Given the description of an element on the screen output the (x, y) to click on. 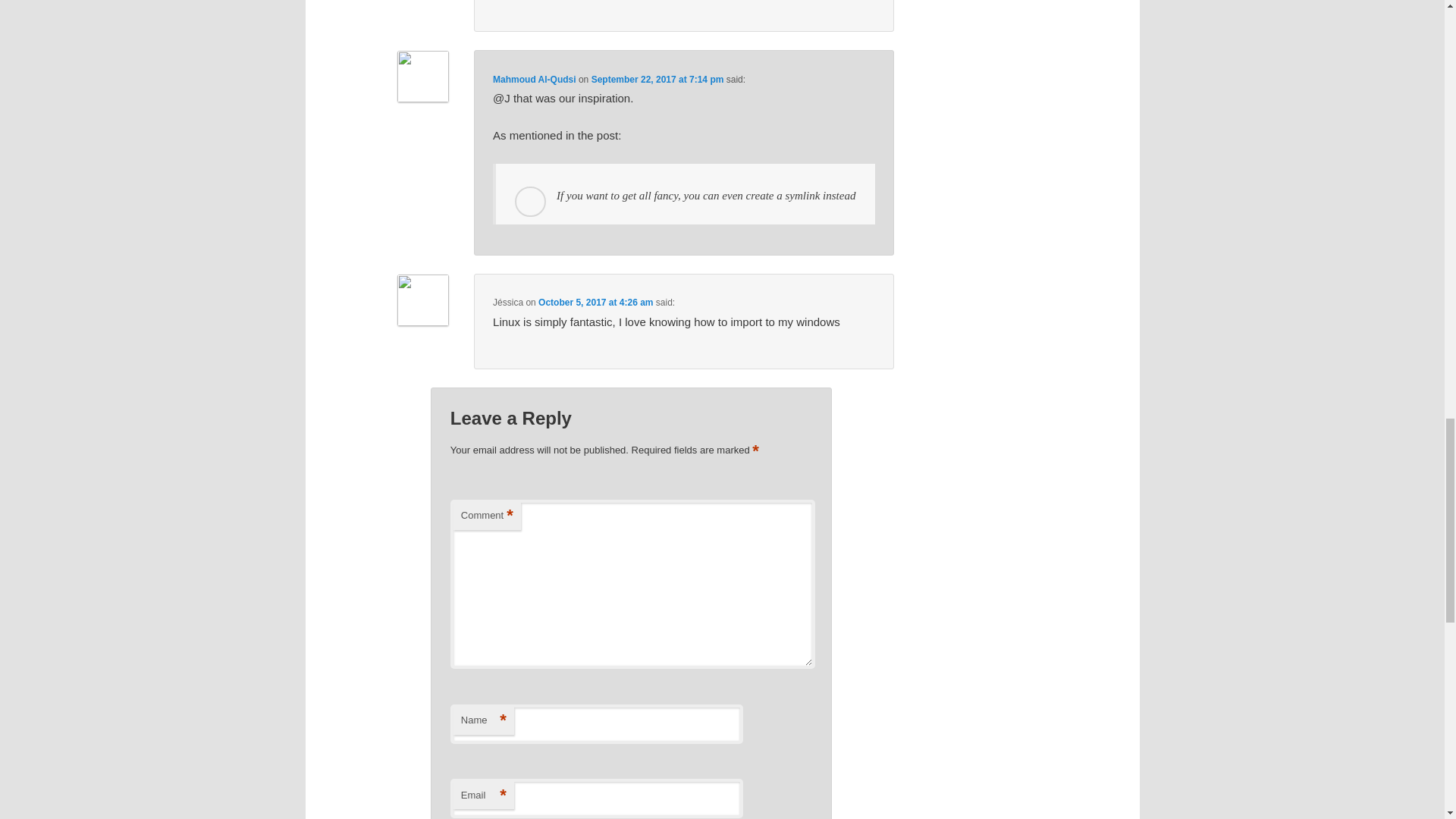
Mahmoud Al-Qudsi (534, 79)
September 22, 2017 at 7:14 pm (657, 79)
October 5, 2017 at 4:26 am (595, 302)
